Given the description of an element on the screen output the (x, y) to click on. 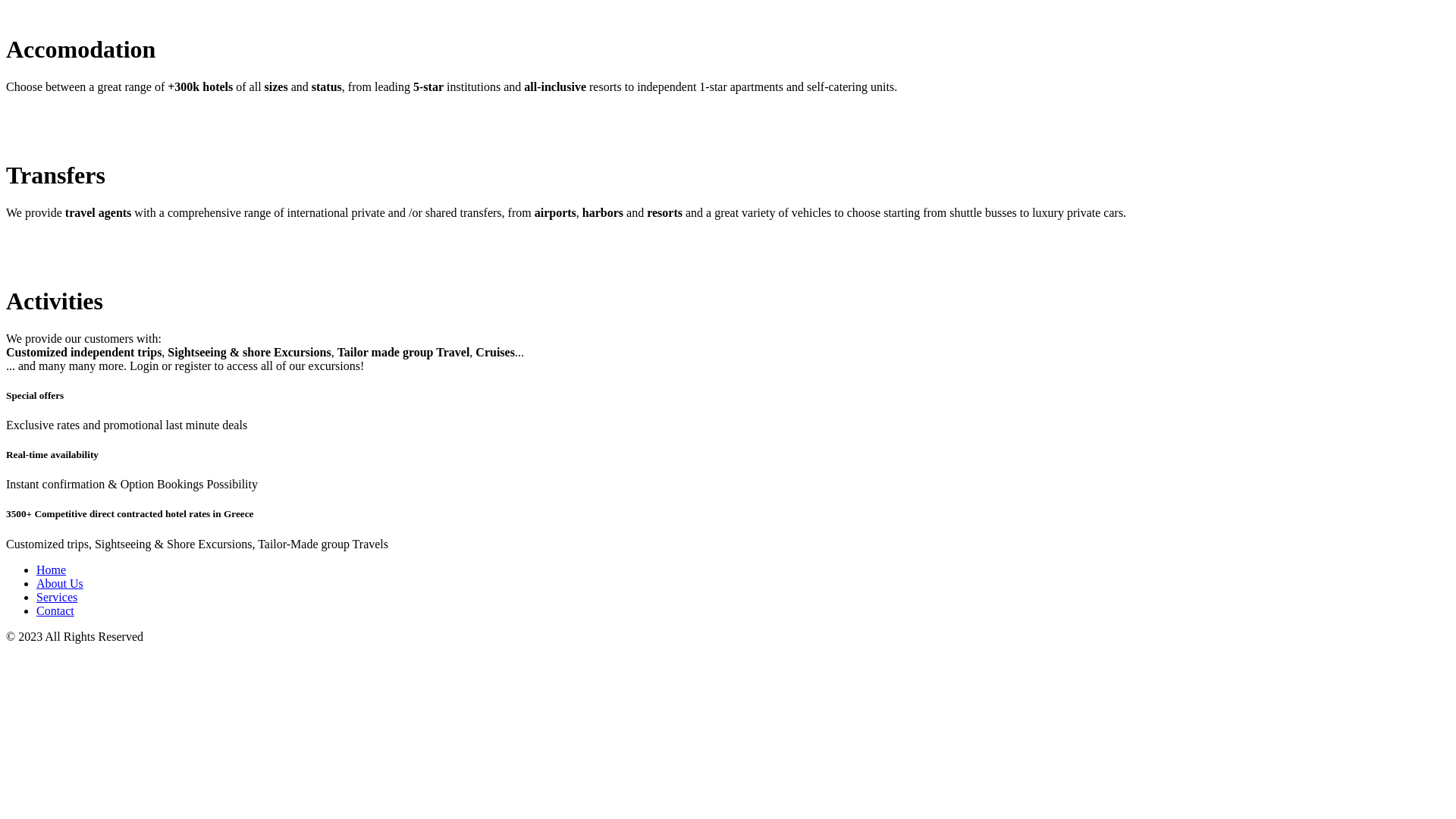
Services Element type: text (56, 596)
About Us Element type: text (59, 583)
Home Element type: text (50, 569)
Contact Element type: text (55, 610)
